Given the description of an element on the screen output the (x, y) to click on. 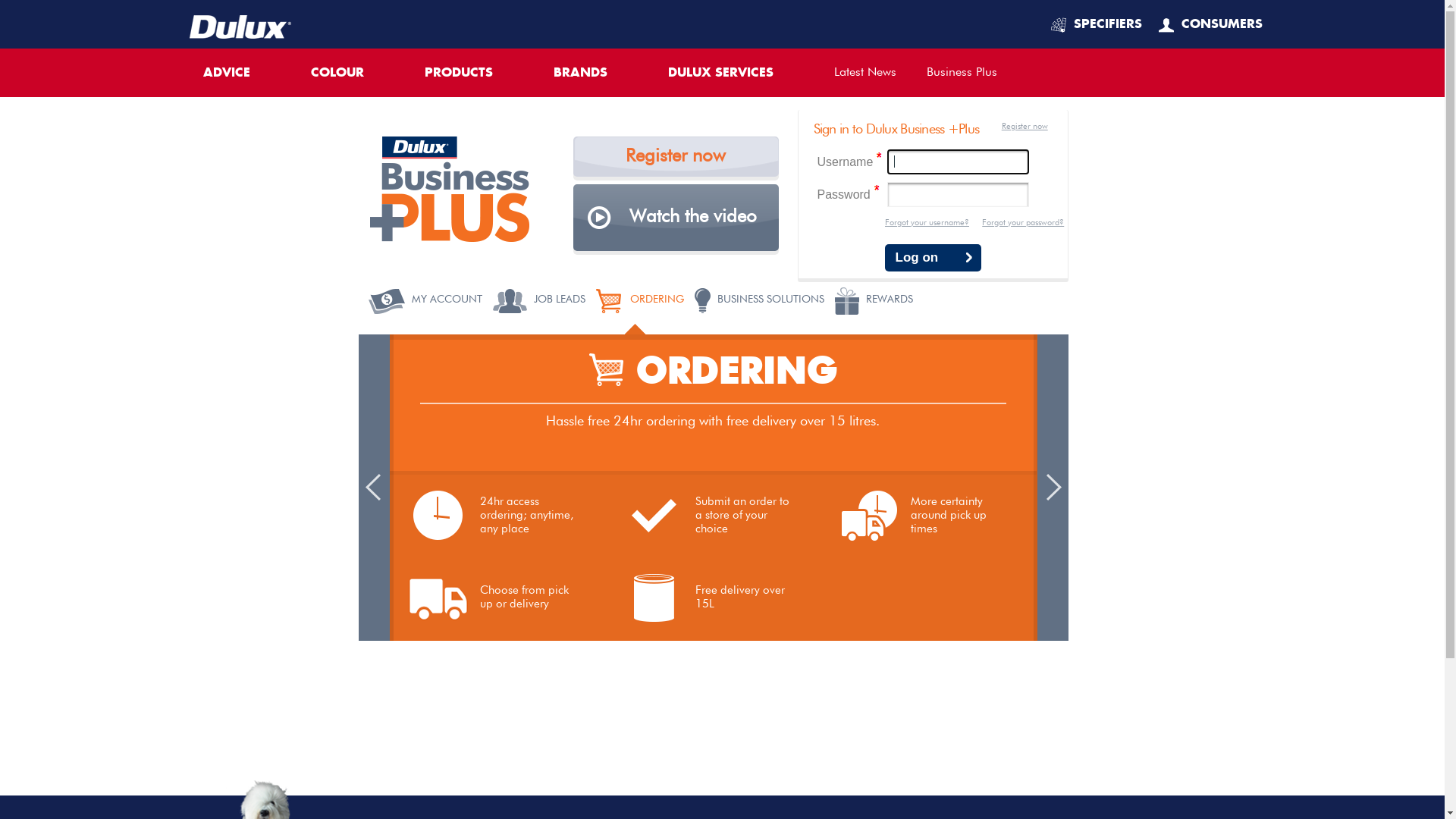
Latest News Element type: text (865, 72)
SPECIFIERS Element type: text (1095, 24)
Forgot your password? Element type: text (1022, 222)
Forgot your username? Element type: text (926, 222)
Register now Element type: text (675, 156)
DULUX SERVICES Element type: text (735, 72)
COLOUR Element type: text (352, 72)
PRODUCTS Element type: text (473, 72)
BRANDS Element type: text (595, 72)
Watch the video Element type: text (675, 217)
ADVICE Element type: text (241, 72)
Log on Element type: text (932, 251)
Business Plus Element type: text (961, 72)
Register now Element type: text (1024, 126)
CONSUMER Element type: text (1210, 24)
